Given the description of an element on the screen output the (x, y) to click on. 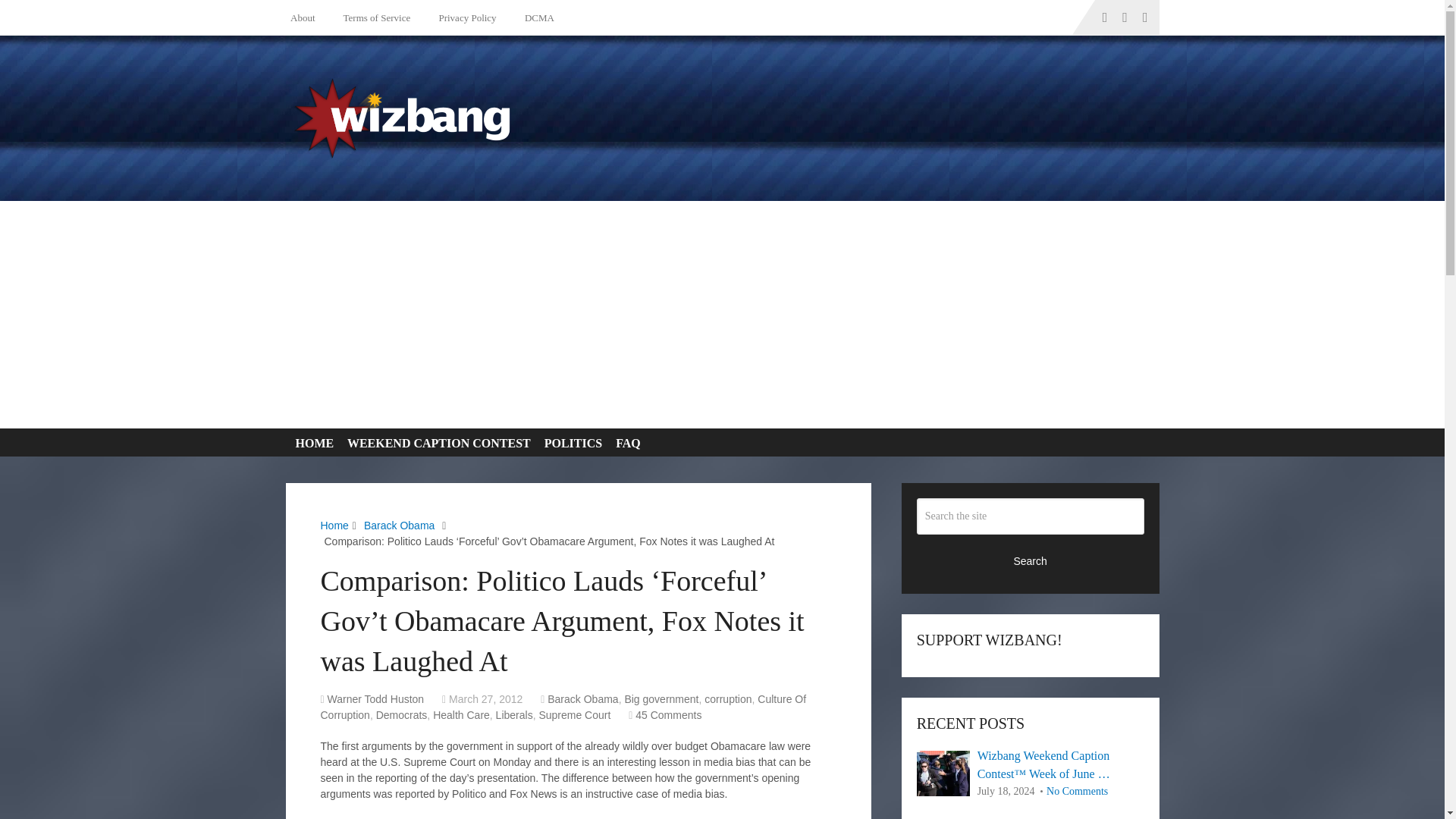
DCMA (537, 17)
Democrats (401, 715)
Health Care (460, 715)
Liberals (514, 715)
Barack Obama (582, 698)
View all posts in Democrats (401, 715)
About (305, 17)
HOME (311, 443)
Warner Todd Huston (376, 698)
Home (333, 525)
Posts by Warner Todd Huston (376, 698)
View all posts in Culture Of Corruption (563, 706)
45 Comments (667, 715)
View all posts in corruption (727, 698)
View all posts in Big government (661, 698)
